Given the description of an element on the screen output the (x, y) to click on. 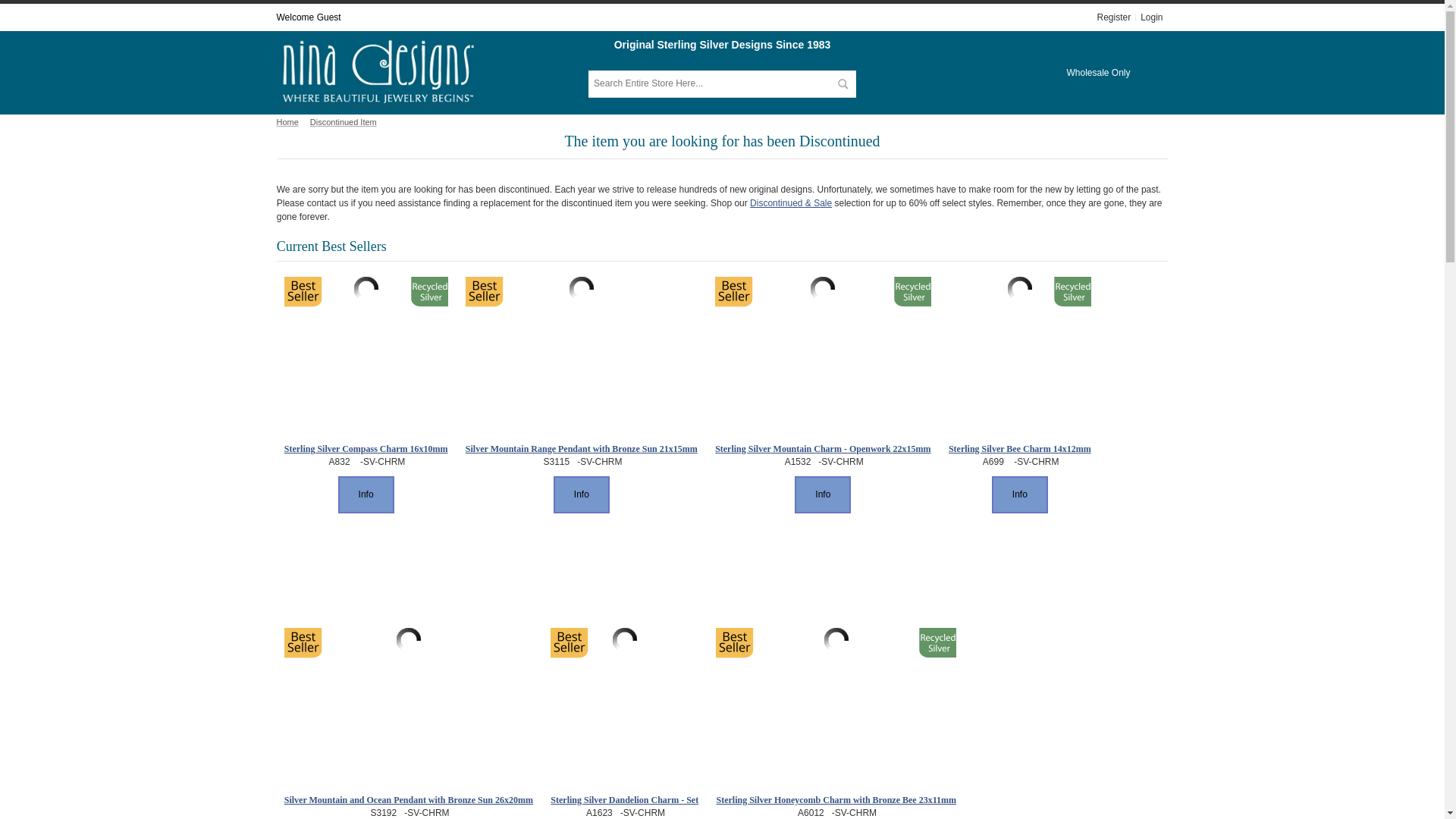
Silver Mountain and Ocean Pendant with Bronze Sun 26x20mm (407, 639)
Login (1151, 17)
Sterling Silver Compass Charm 16x10mm (365, 448)
Silver Mountain Range Pendant with Bronze Sun 21x15mm (581, 448)
Sterling Silver Mountain Charm - Openwork 22x15mm (822, 448)
Login (1151, 17)
Register (1114, 17)
Silver Mountain Range Pendant with Bronze Sun 21x15mm (581, 288)
Sterling Silver Compass Charm 16x10mm (365, 288)
Search (842, 83)
Sterling Silver Bee Charm 14x12mm (1019, 288)
Sterling Silver Bee Charm 14x12mm (1019, 448)
Sterling Silver Mountain Charm - Openwork 22x15mm (822, 288)
Register (1114, 17)
